Given the description of an element on the screen output the (x, y) to click on. 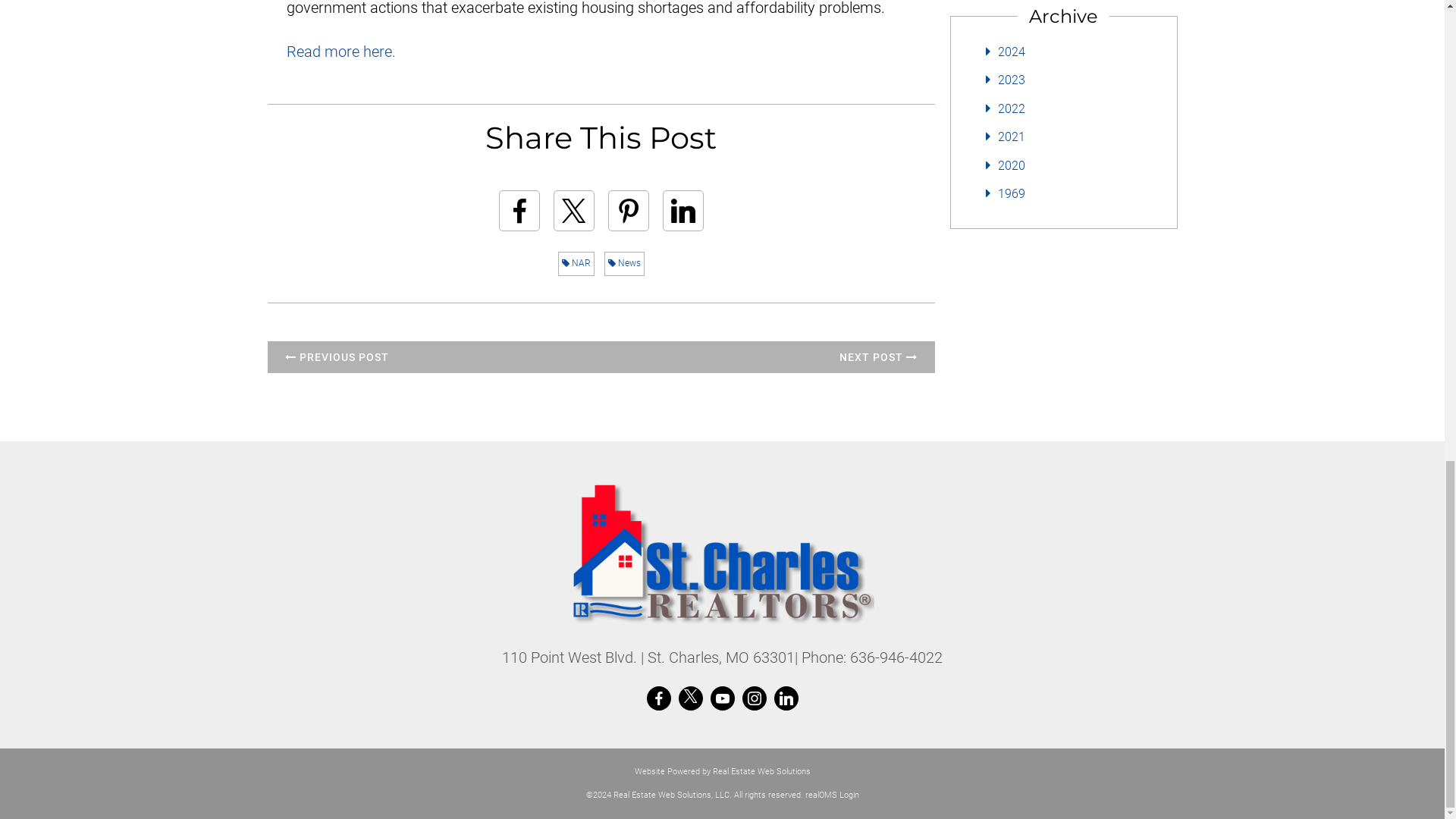
Visit us on YouTube (722, 698)
Visit us on Instagram (754, 698)
Share on X (573, 210)
Share on Pinterest (628, 210)
Visit us on Facebook (658, 698)
Share on Facebook (519, 210)
Share on Linked In (682, 210)
Visit us on LinkedIn (785, 698)
